Given the description of an element on the screen output the (x, y) to click on. 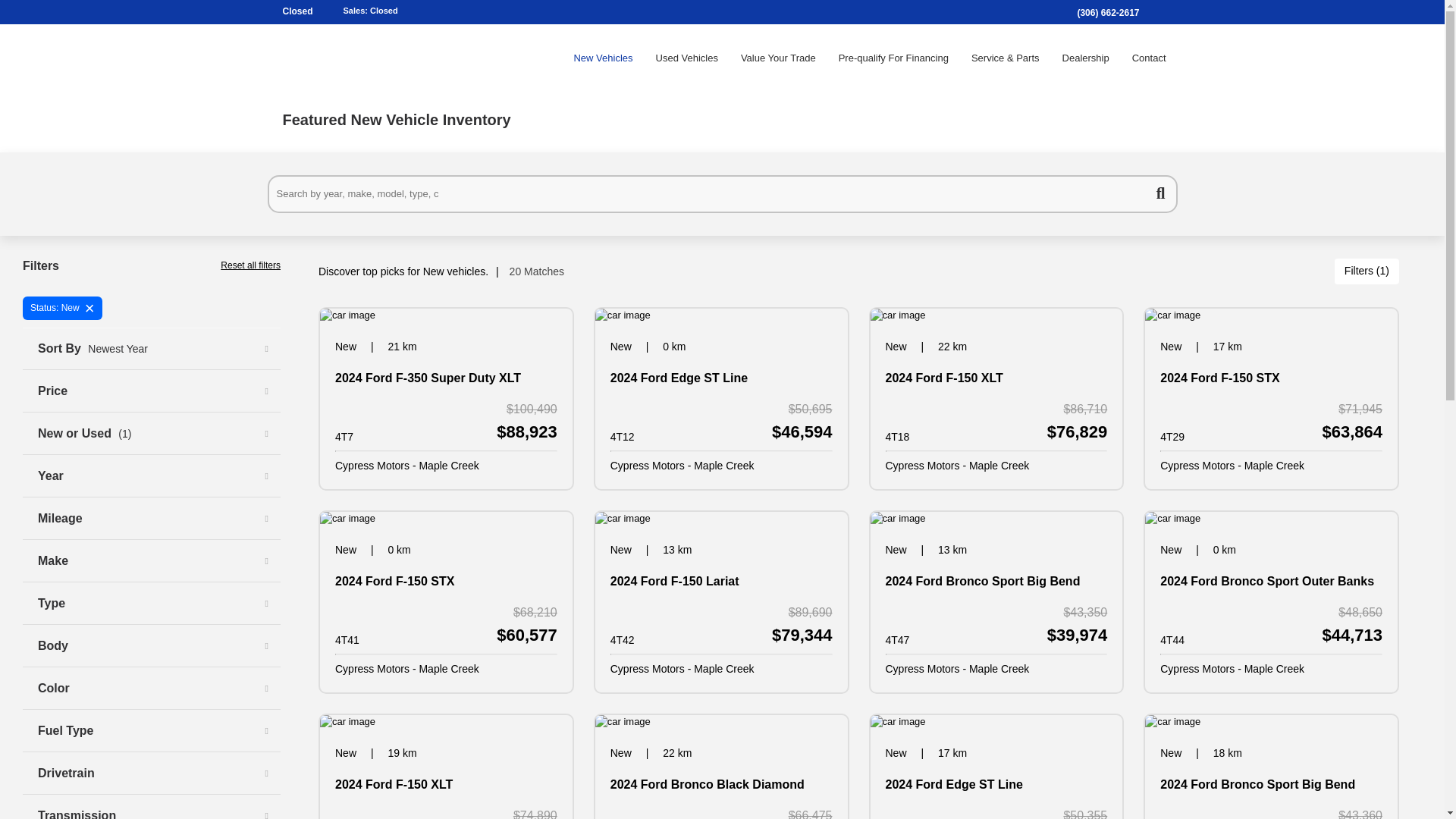
Contact (1149, 57)
Filters 1 (1367, 271)
Value Your Trade (778, 57)
Dealership (1086, 57)
New Vehicles (602, 57)
Used Vehicles (687, 57)
Reset all filters (251, 265)
Pre-qualify For Financing (893, 57)
